Given the description of an element on the screen output the (x, y) to click on. 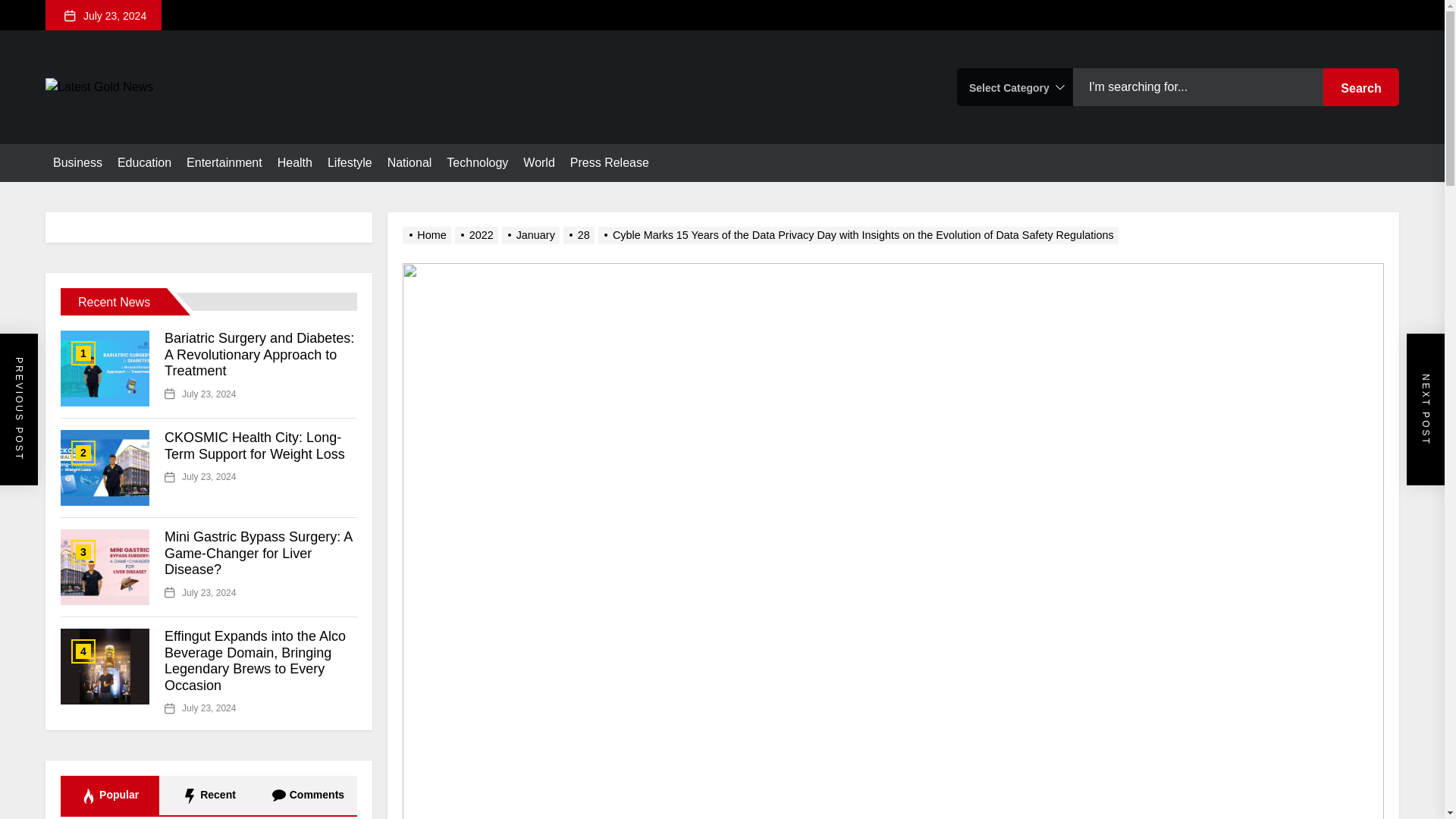
Press Release (609, 162)
Entertainment (224, 162)
Health (295, 162)
World (538, 162)
Lifestyle (349, 162)
Search (1361, 86)
Technology (477, 162)
Latest Gold News (197, 122)
Education (144, 162)
CKOSMIC Health City: Long-Term Support for Weight Loss (254, 445)
National (409, 162)
Business (76, 162)
